Given the description of an element on the screen output the (x, y) to click on. 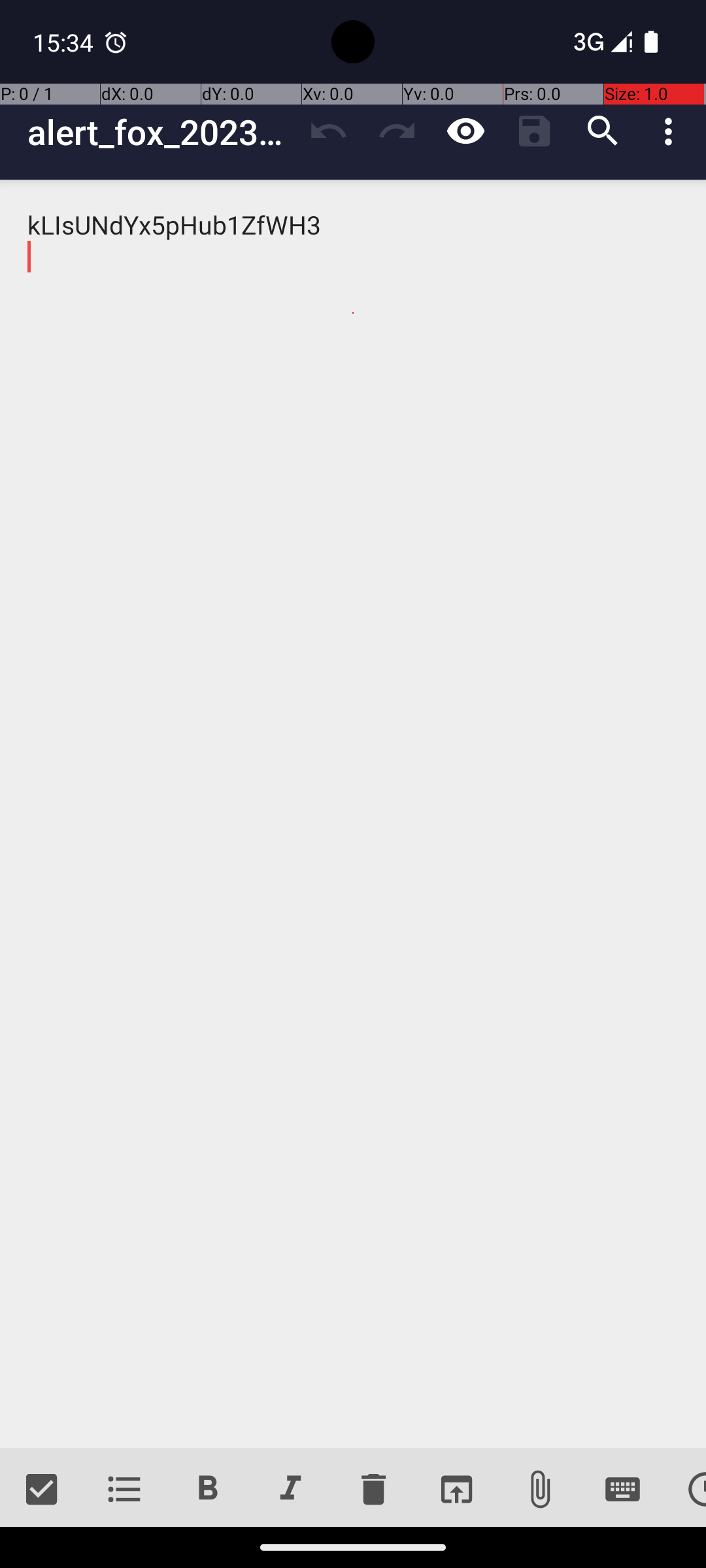
alert_fox_2023_01_10 Element type: android.widget.TextView (160, 131)
kLIsUNdYx5pHub1ZfWH3
 Element type: android.widget.EditText (353, 813)
